Given the description of an element on the screen output the (x, y) to click on. 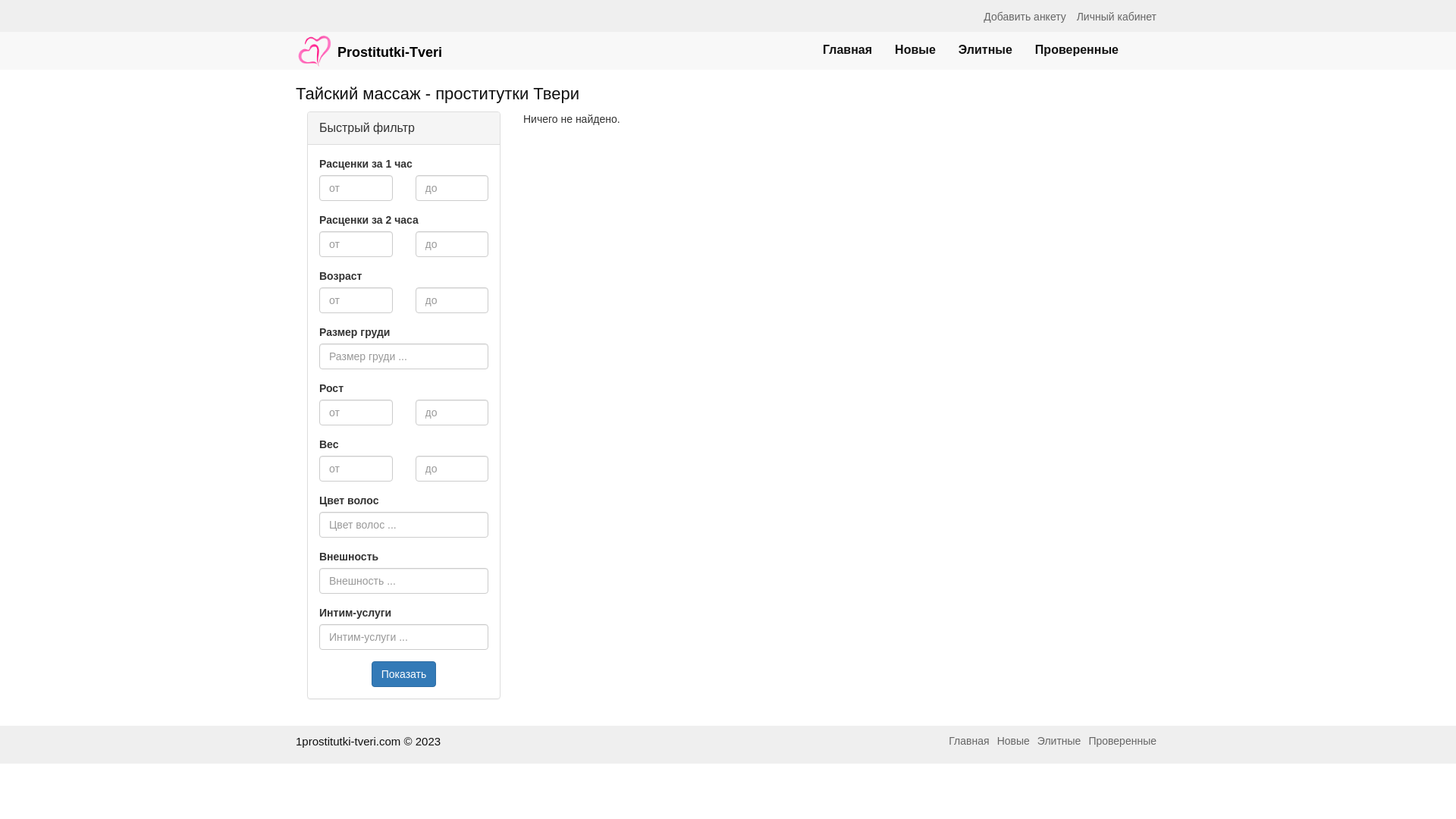
Prostitutki-Tveri Element type: text (368, 43)
